Given the description of an element on the screen output the (x, y) to click on. 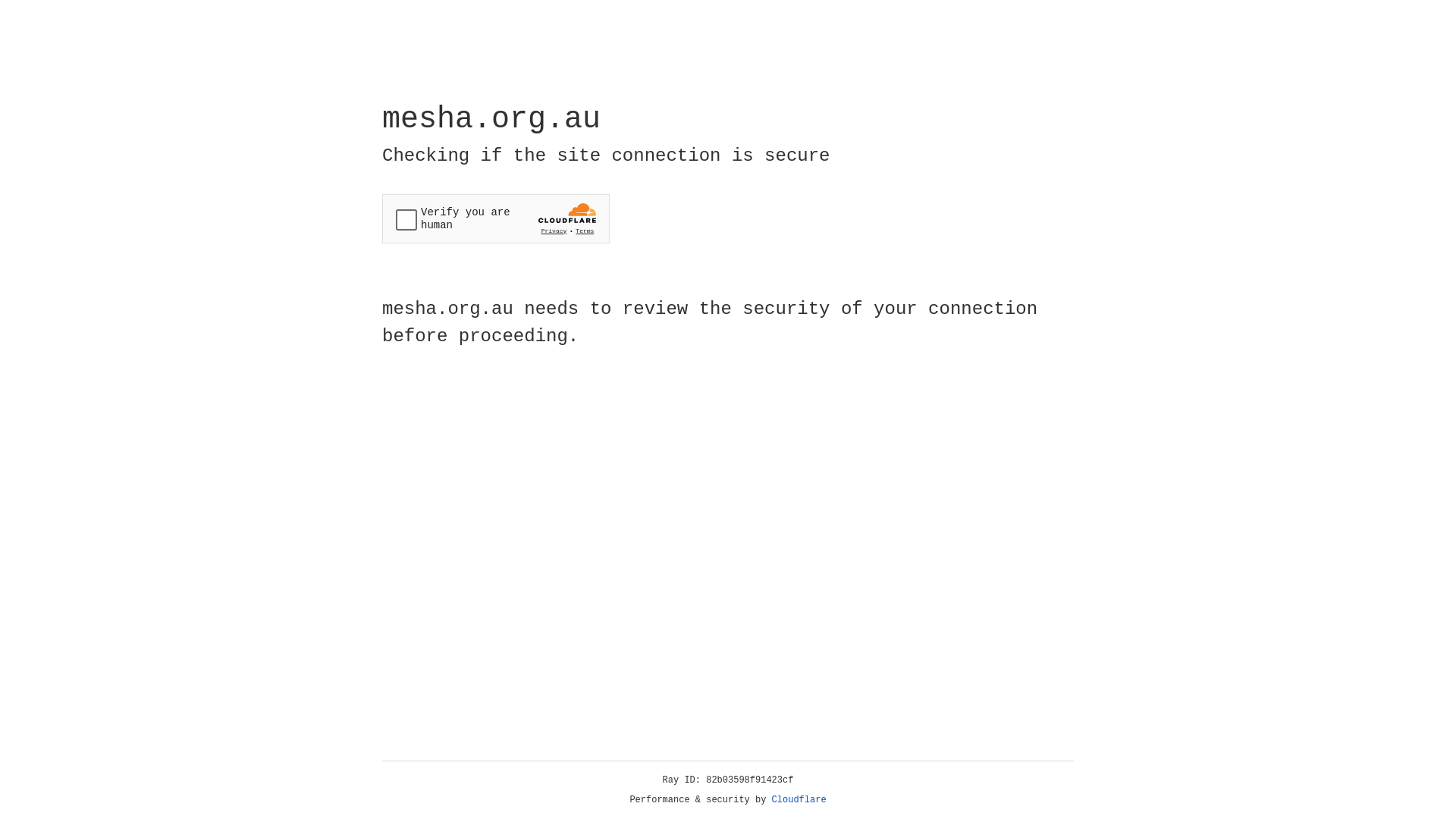
Cloudflare Element type: text (798, 799)
Widget containing a Cloudflare security challenge Element type: hover (495, 218)
